Given the description of an element on the screen output the (x, y) to click on. 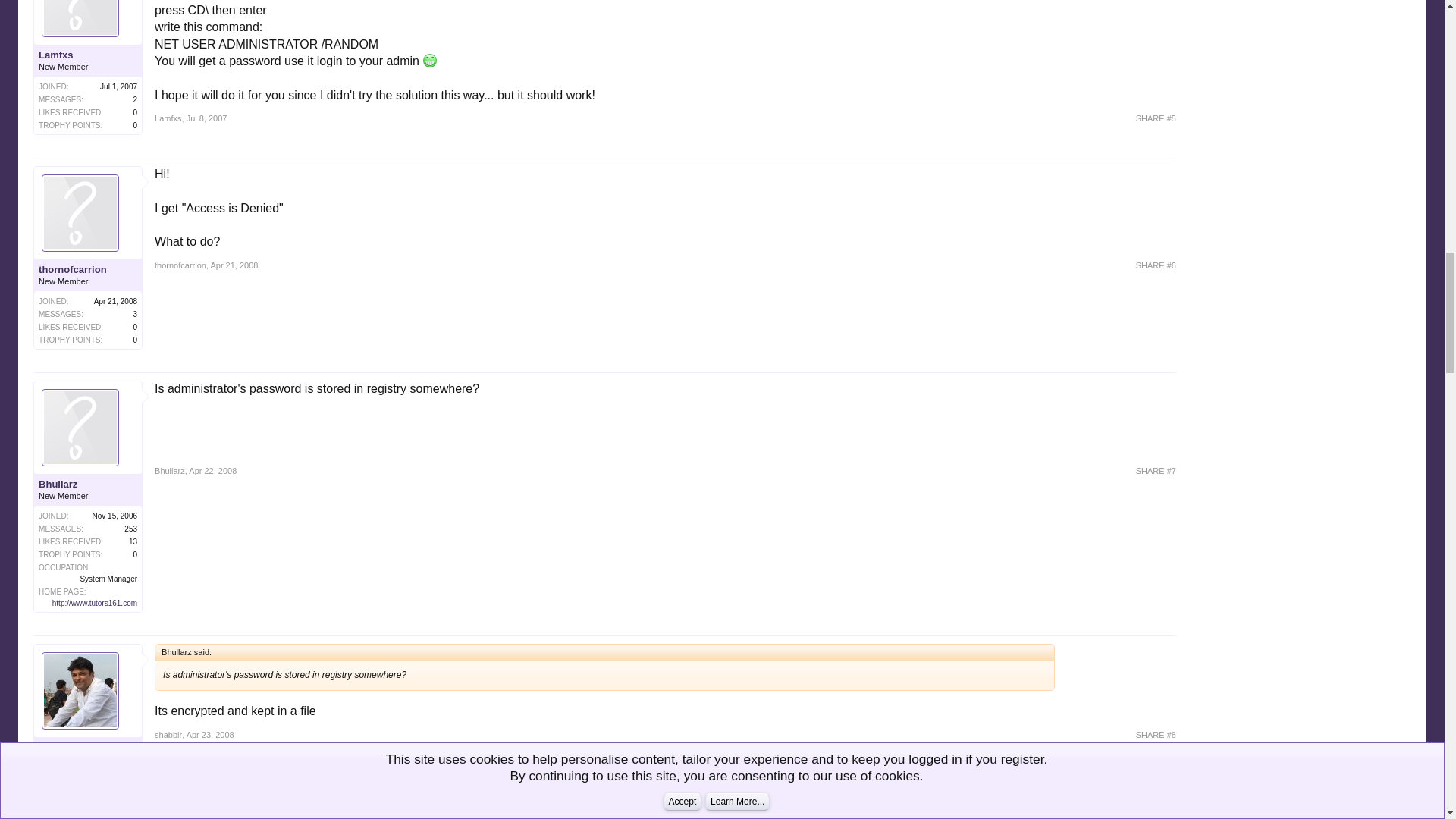
Permalink (206, 117)
Permalink (233, 265)
Big Grin    :D (429, 60)
Permalink (1155, 118)
